Given the description of an element on the screen output the (x, y) to click on. 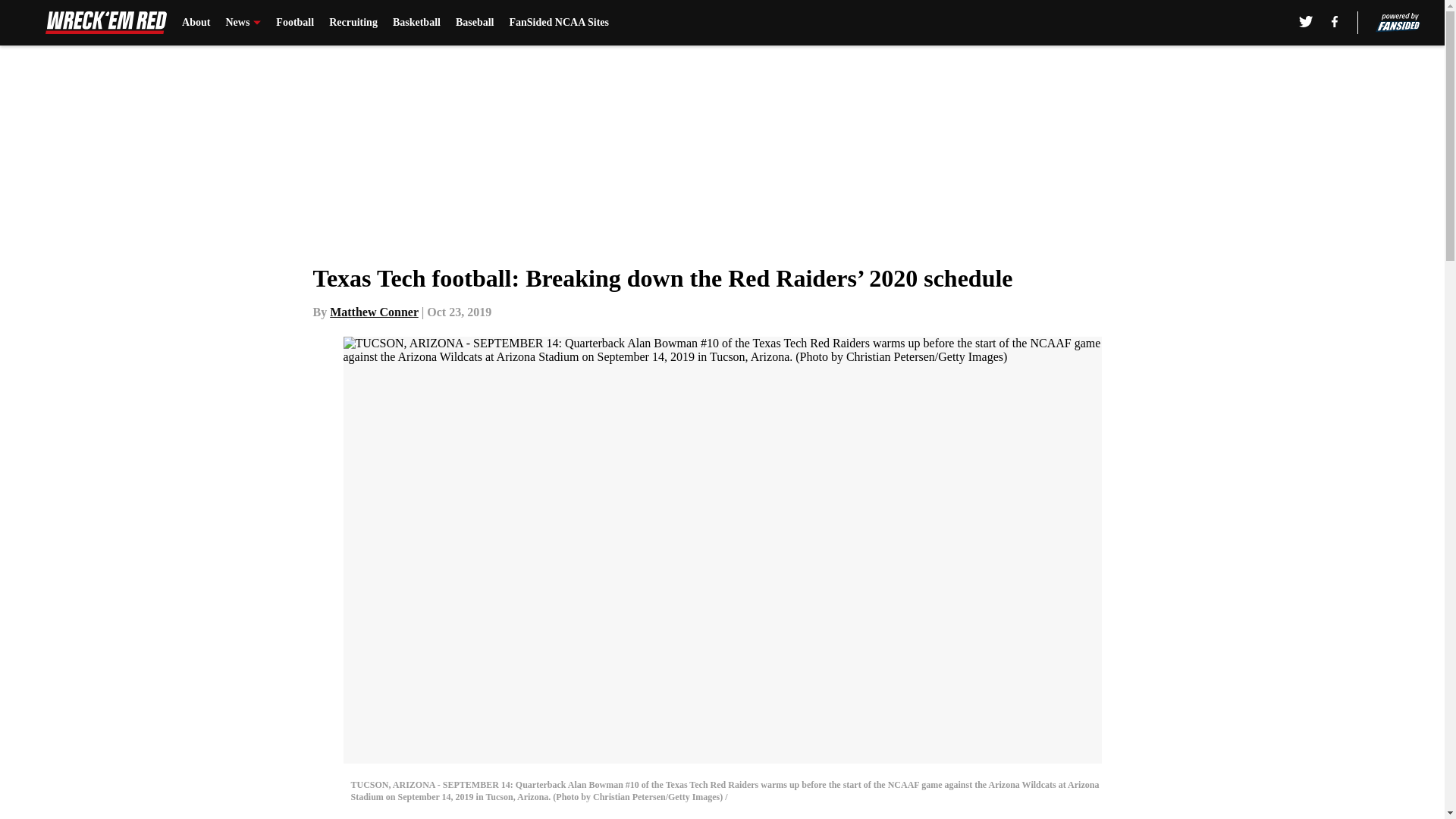
FanSided NCAA Sites (558, 22)
Football (295, 22)
About (195, 22)
Baseball (475, 22)
Recruiting (353, 22)
Matthew Conner (374, 311)
Basketball (417, 22)
